Given the description of an element on the screen output the (x, y) to click on. 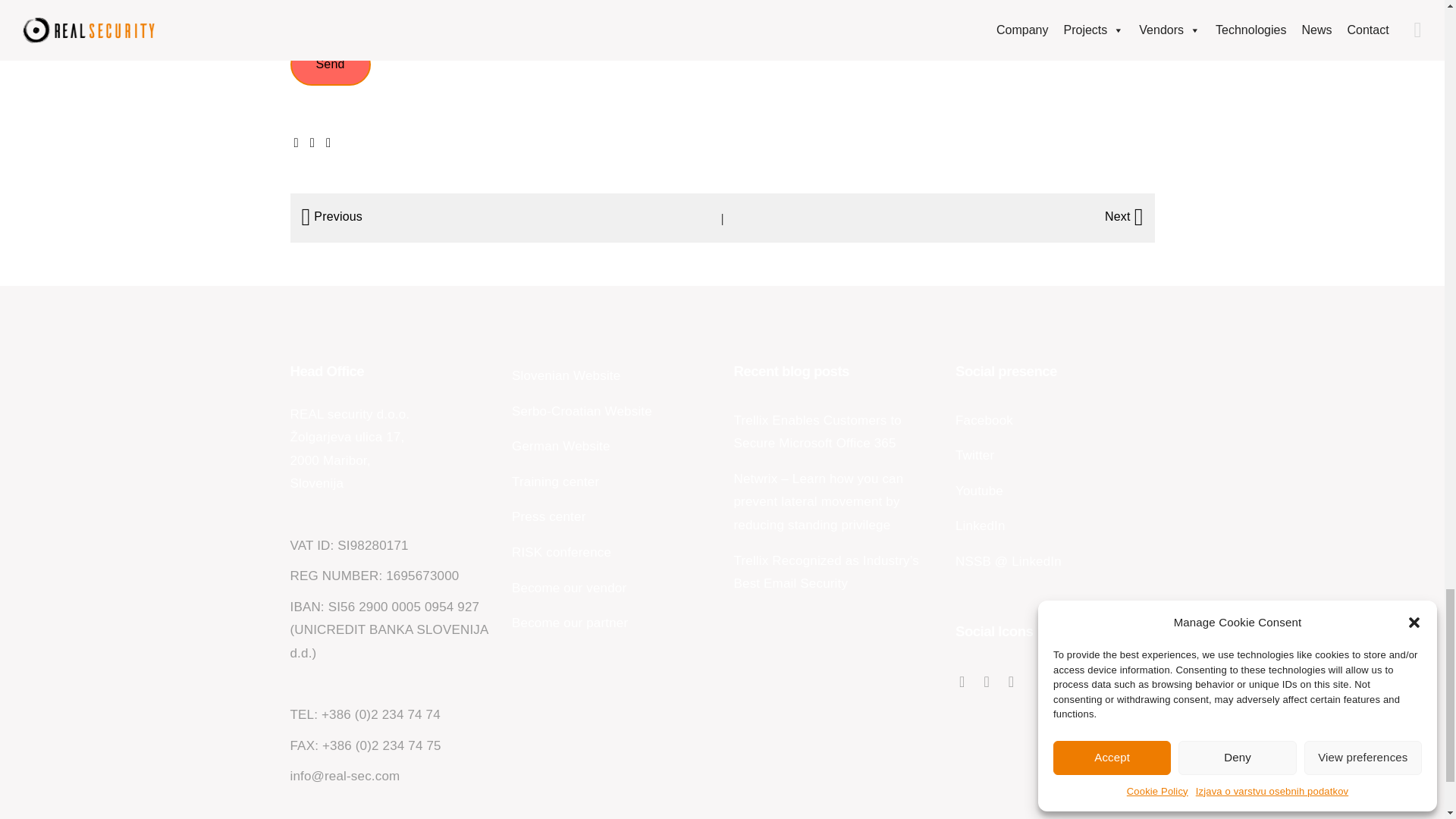
Send (329, 64)
